Given the description of an element on the screen output the (x, y) to click on. 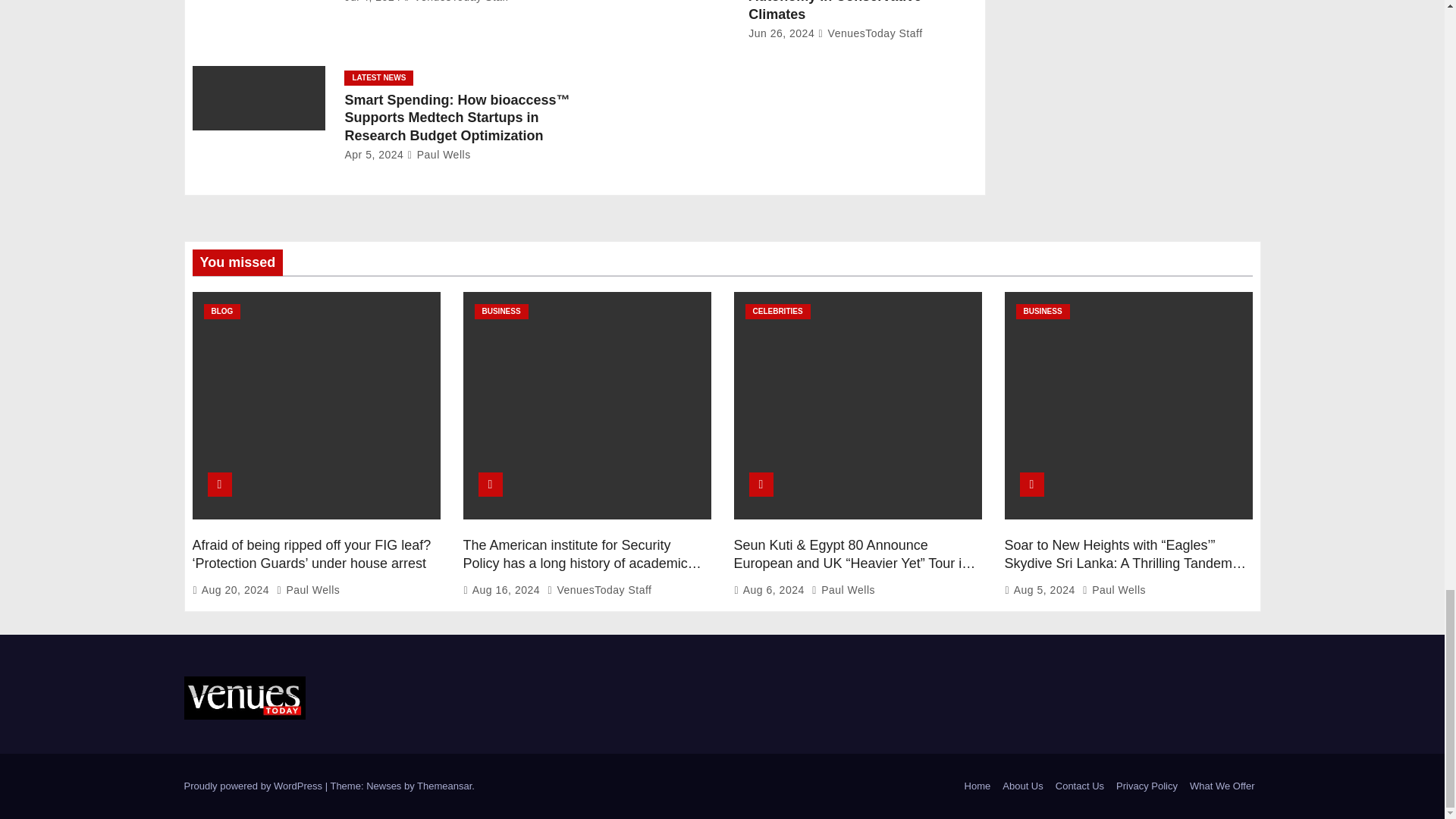
LATEST NEWS (378, 77)
VenuesToday Staff (870, 33)
Jul 4, 2024 (371, 1)
VenuesToday Staff (456, 1)
Jun 26, 2024 (780, 33)
Apr 5, 2024 (373, 154)
Home (977, 786)
